Given the description of an element on the screen output the (x, y) to click on. 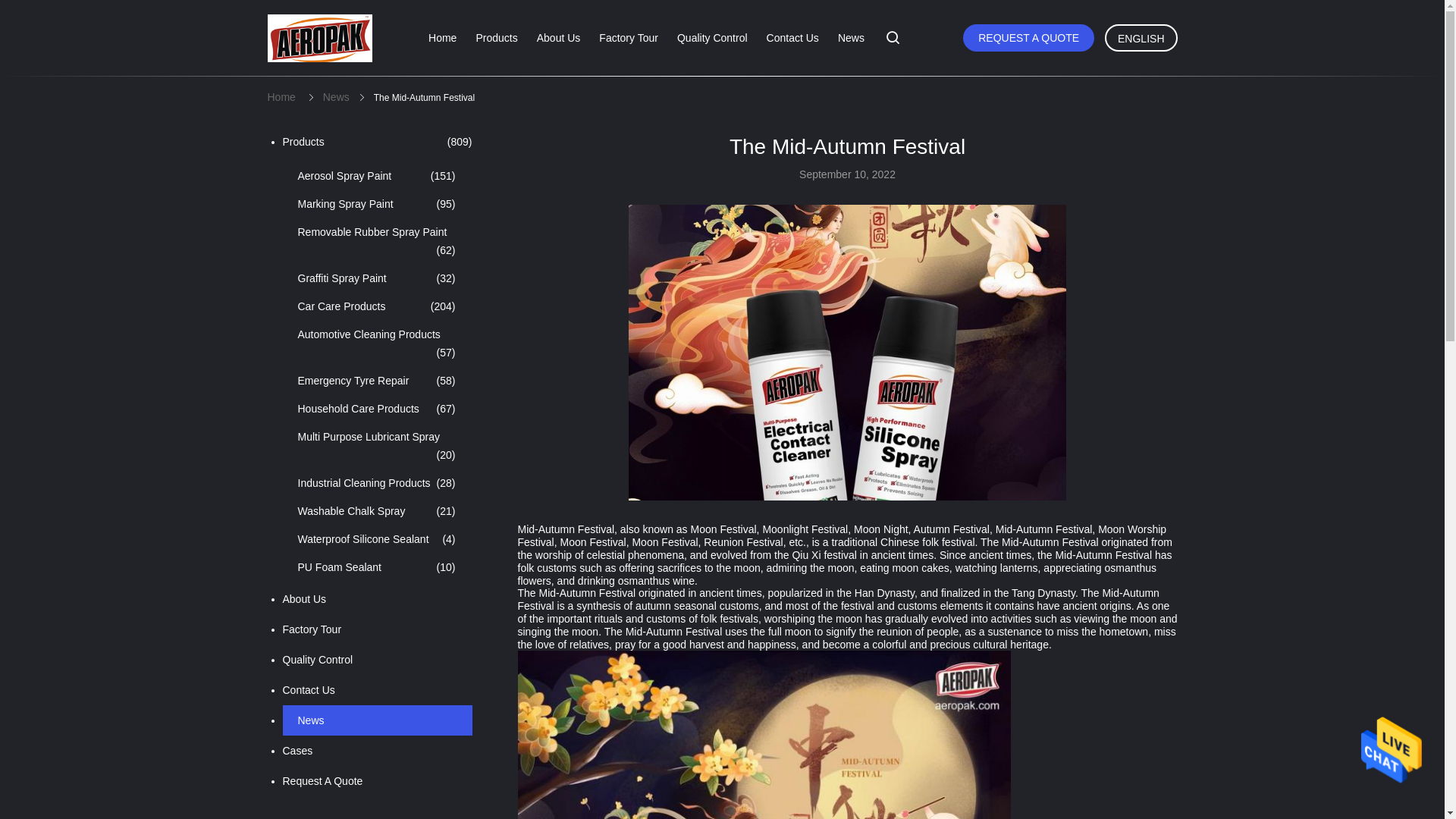
ENGLISH (1140, 37)
Contact Us (792, 37)
REQUEST A QUOTE (1028, 37)
Products (496, 37)
News (336, 96)
About Us (558, 37)
Factory Tour (628, 37)
News (851, 37)
Home (442, 37)
Home (280, 96)
Quality Control (712, 37)
